Given the description of an element on the screen output the (x, y) to click on. 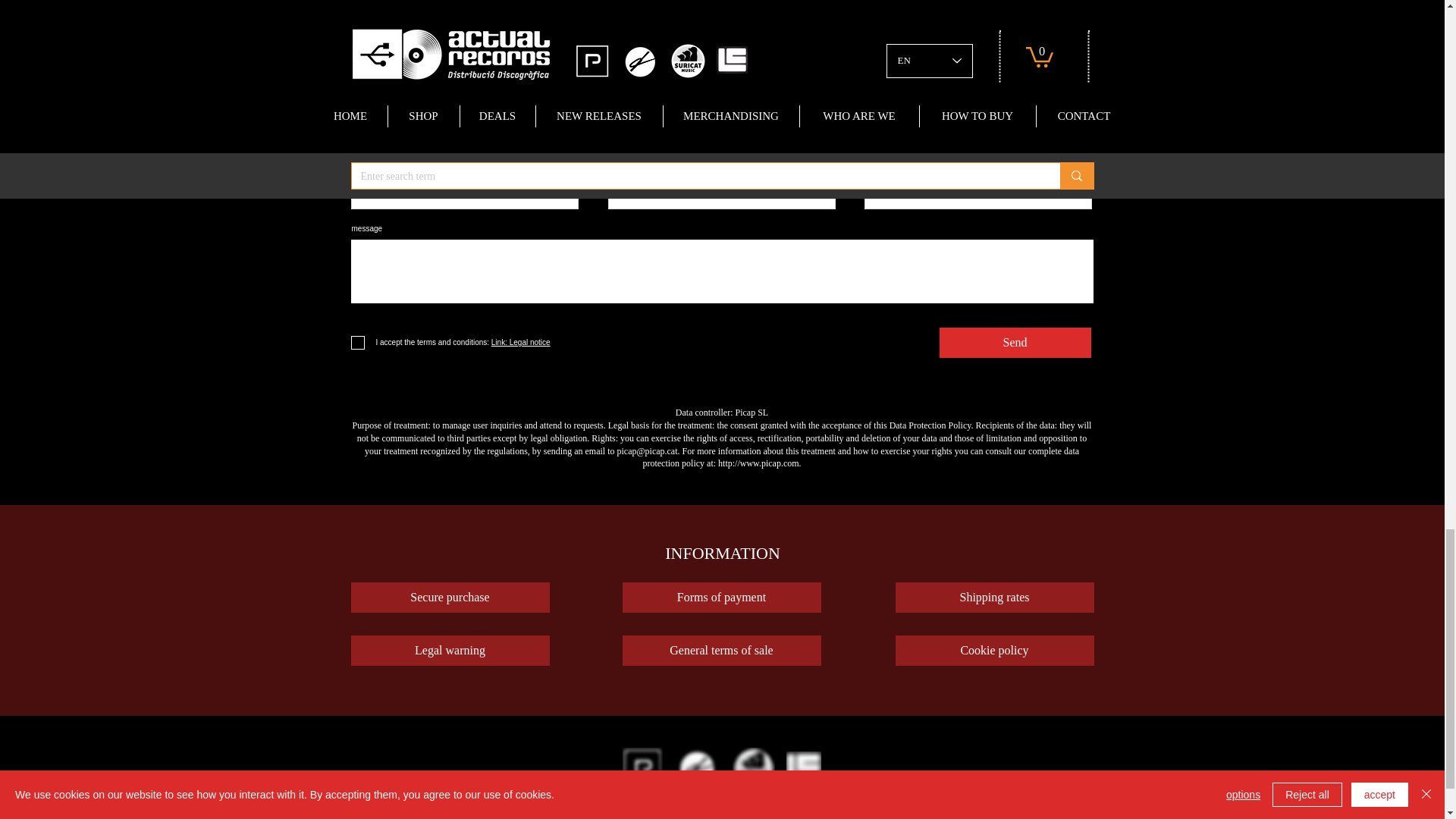
Send (1014, 342)
Google Maps (721, 56)
Secure purchase (449, 597)
LEGAL NOTICE AND PRIVACY POLICY (720, 808)
Shipping rates (994, 597)
General terms of sale (721, 650)
Link: Legal notice (519, 342)
Cookie policy (994, 650)
Forms of payment (721, 597)
Legal warning (449, 650)
